Given the description of an element on the screen output the (x, y) to click on. 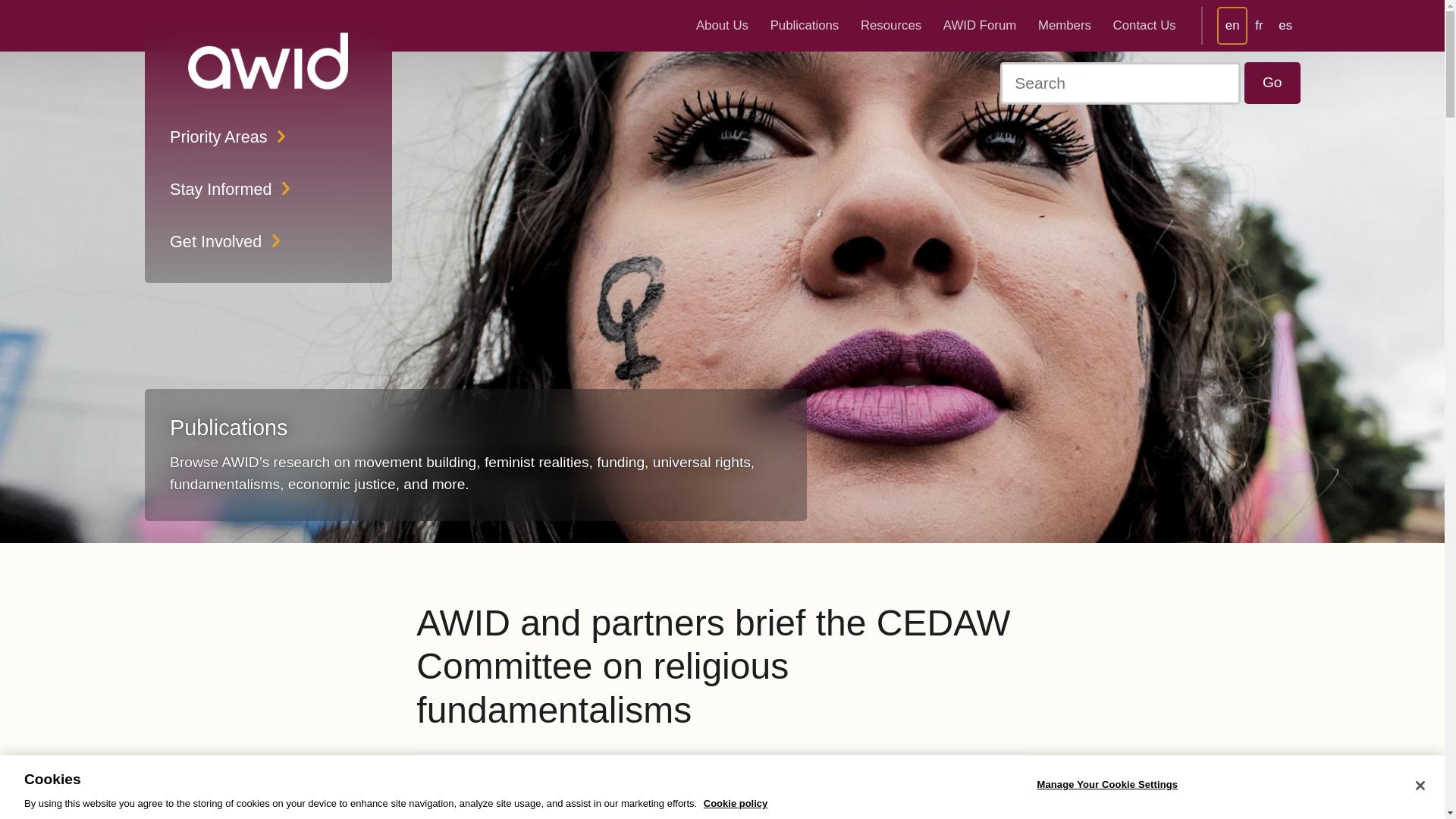
AWID Forum (979, 25)
About Us (722, 25)
Contact Us (1144, 25)
Resources (890, 25)
Enter the terms you wish to search for. (1120, 83)
Go (1272, 83)
Priority Areas (267, 136)
Go (1272, 83)
Get Involved (267, 241)
Stay Informed (267, 188)
Publications (805, 25)
Home (267, 61)
Members (1063, 25)
